Given the description of an element on the screen output the (x, y) to click on. 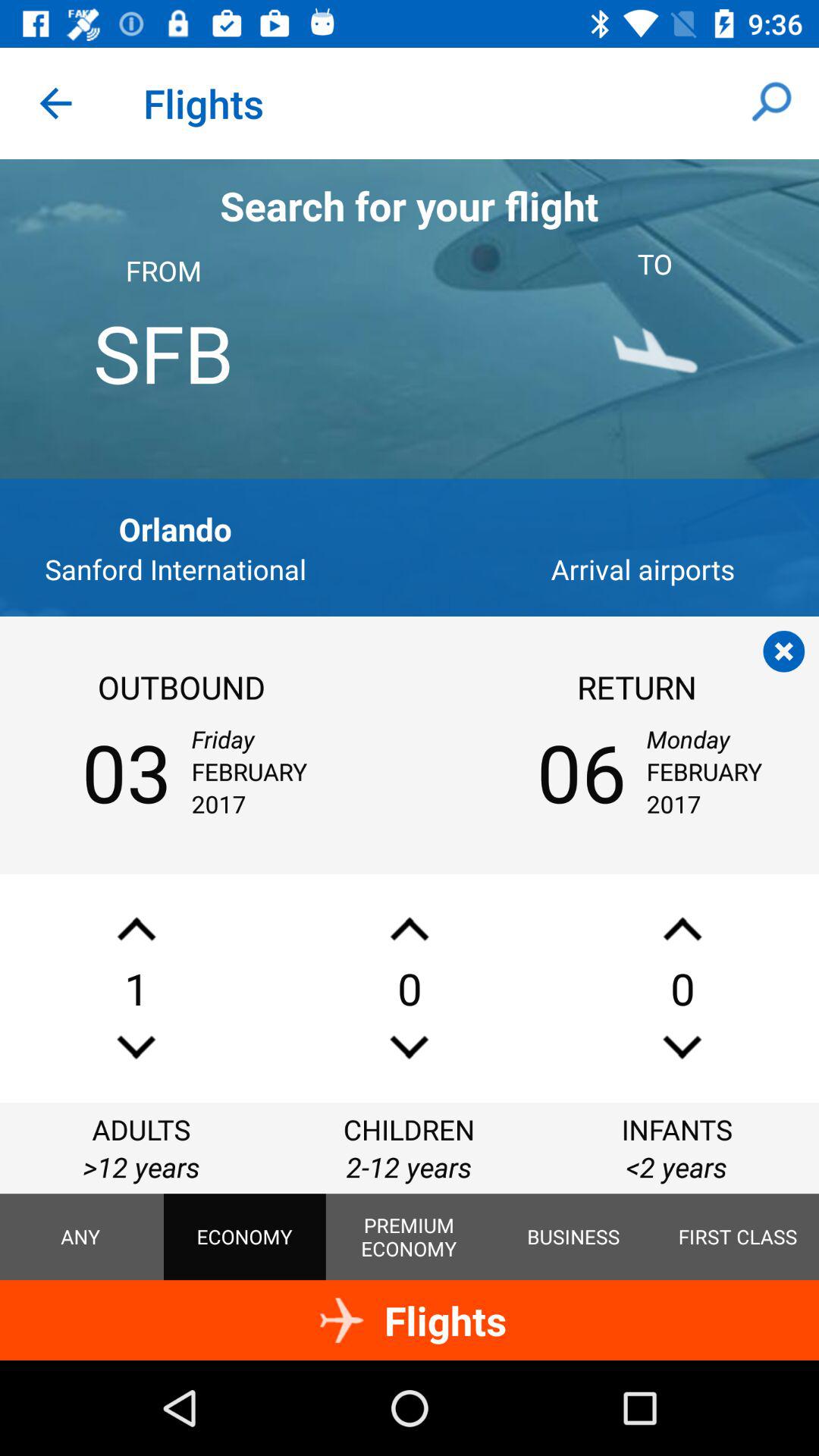
scroll up (409, 928)
